Given the description of an element on the screen output the (x, y) to click on. 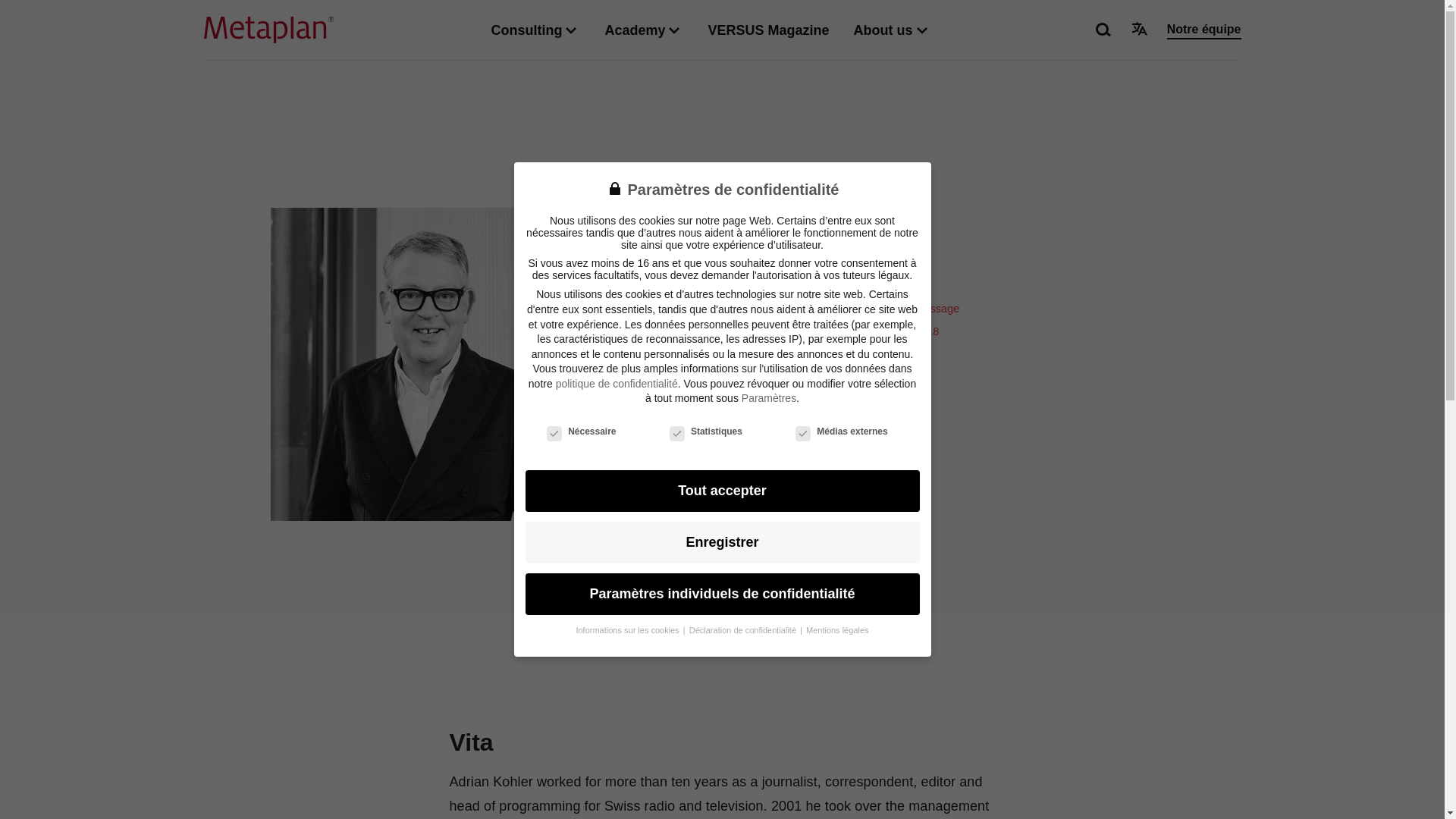
Consulting (534, 29)
Academy (643, 29)
